Given the description of an element on the screen output the (x, y) to click on. 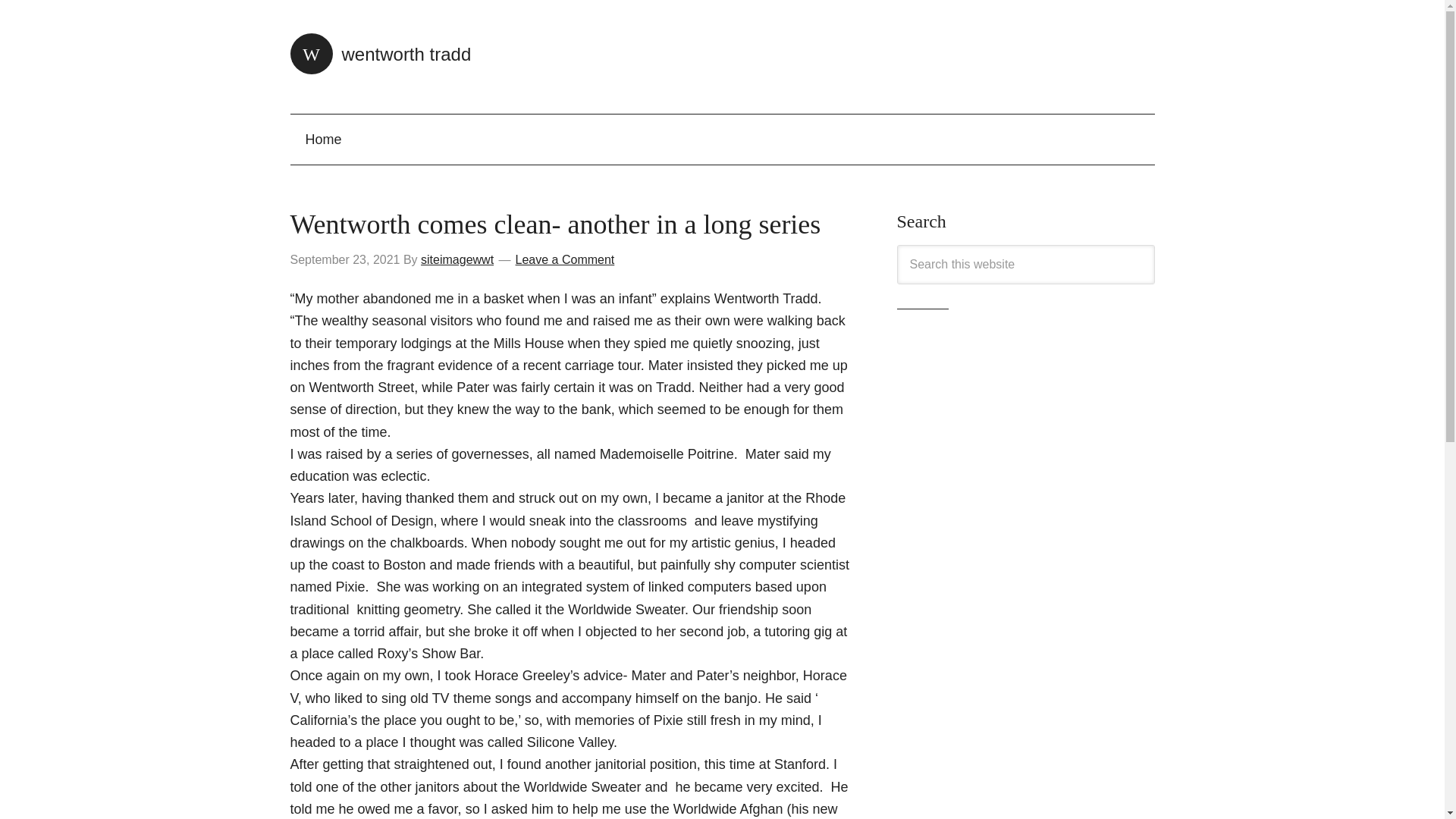
siteimagewwt (456, 259)
wentworth tradd (379, 54)
Leave a Comment (564, 259)
Home (322, 139)
